Given the description of an element on the screen output the (x, y) to click on. 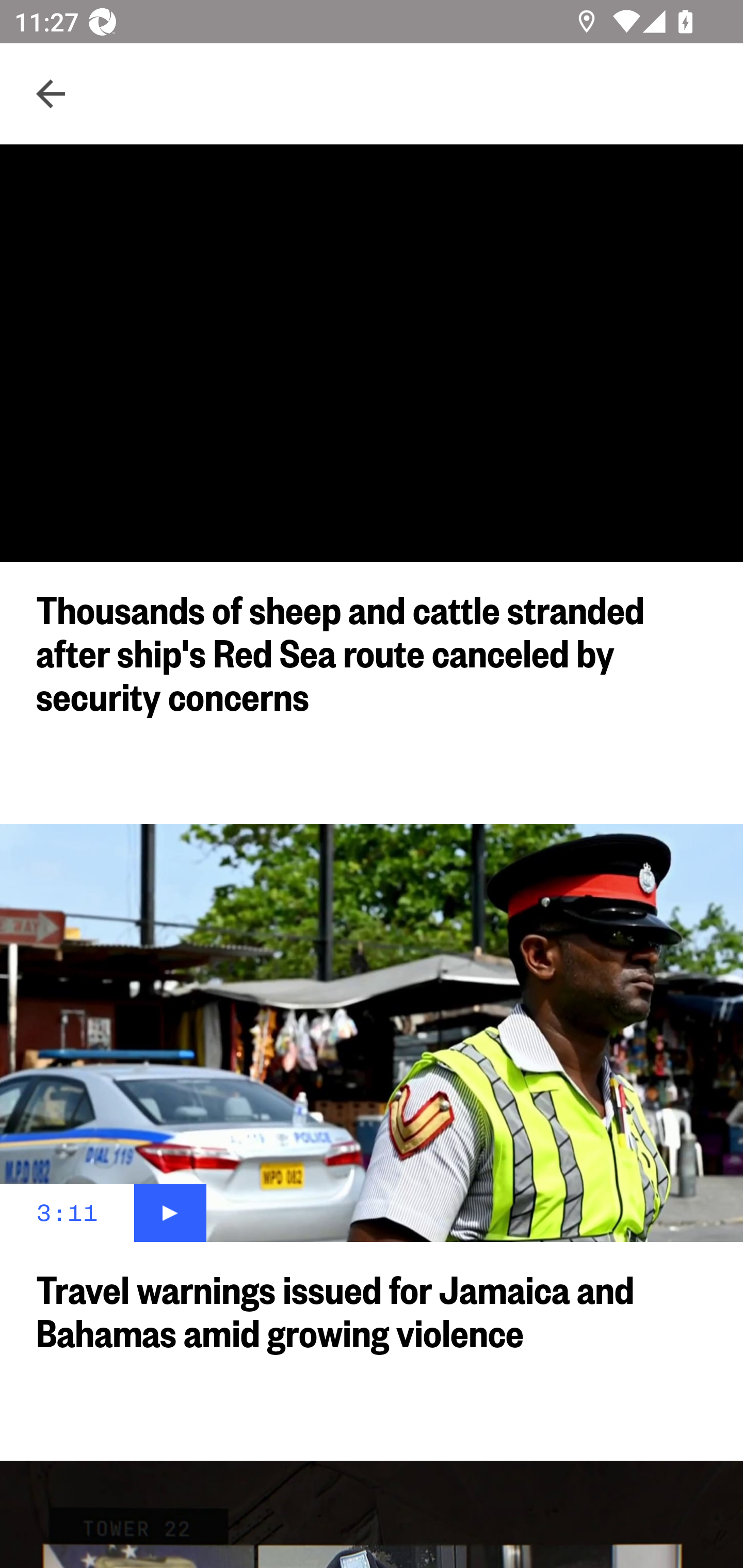
Navigate up (50, 93)
